Given the description of an element on the screen output the (x, y) to click on. 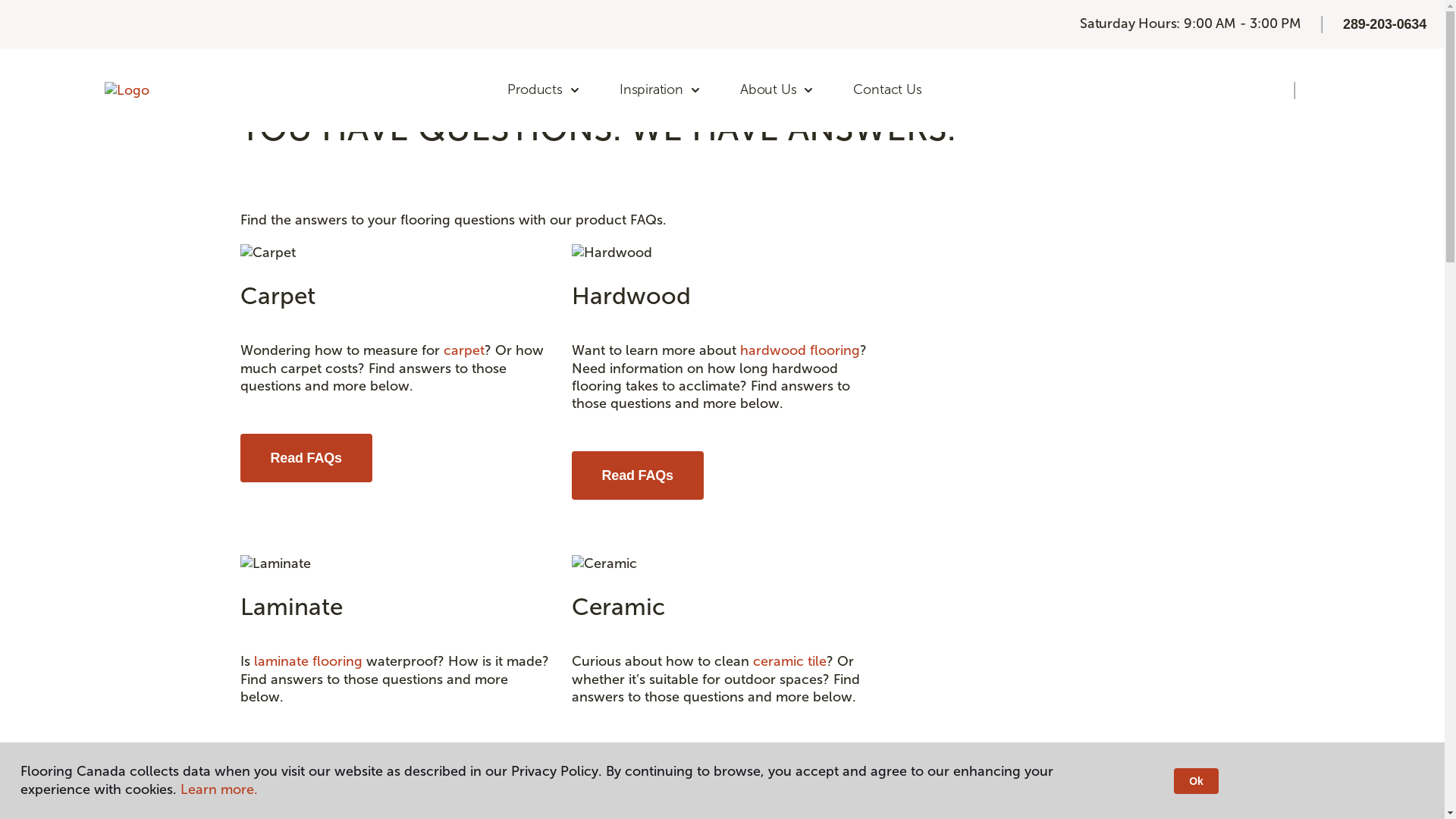
About Us Element type: text (777, 90)
Flooring Canada Element type: text (277, 30)
289-203-0634 Element type: text (1384, 24)
Read FAQs Element type: text (637, 475)
Learn more. Element type: text (218, 789)
hardwood flooring Element type: text (799, 350)
Read FAQs Element type: text (305, 457)
carpet Element type: text (462, 350)
Read FAQs Element type: text (637, 768)
Contact Us Element type: text (887, 90)
Products Element type: text (543, 90)
laminate flooring Element type: text (307, 660)
Read FAQs Element type: text (305, 768)
Inspiration Element type: text (660, 90)
ceramic tile Element type: text (788, 660)
Ok Element type: text (1195, 780)
